Given the description of an element on the screen output the (x, y) to click on. 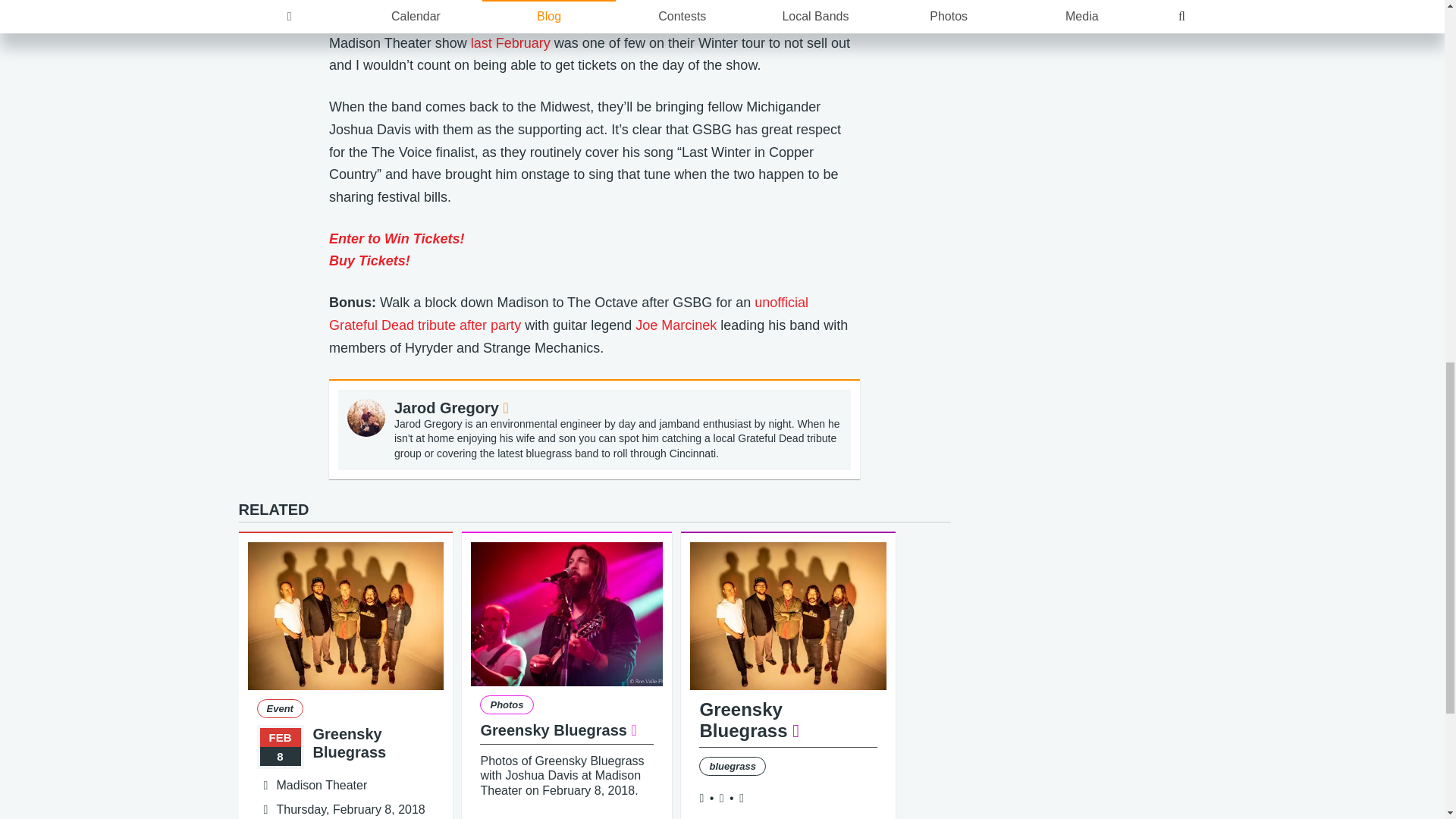
Joe Marcinek (675, 324)
last February (510, 43)
unofficial Grateful Dead tribute after party (568, 313)
Enter to Win Tickets! (396, 238)
Sam Bush (578, 13)
Jarod Gregory  (451, 407)
Buy Tickets! (369, 260)
